Given the description of an element on the screen output the (x, y) to click on. 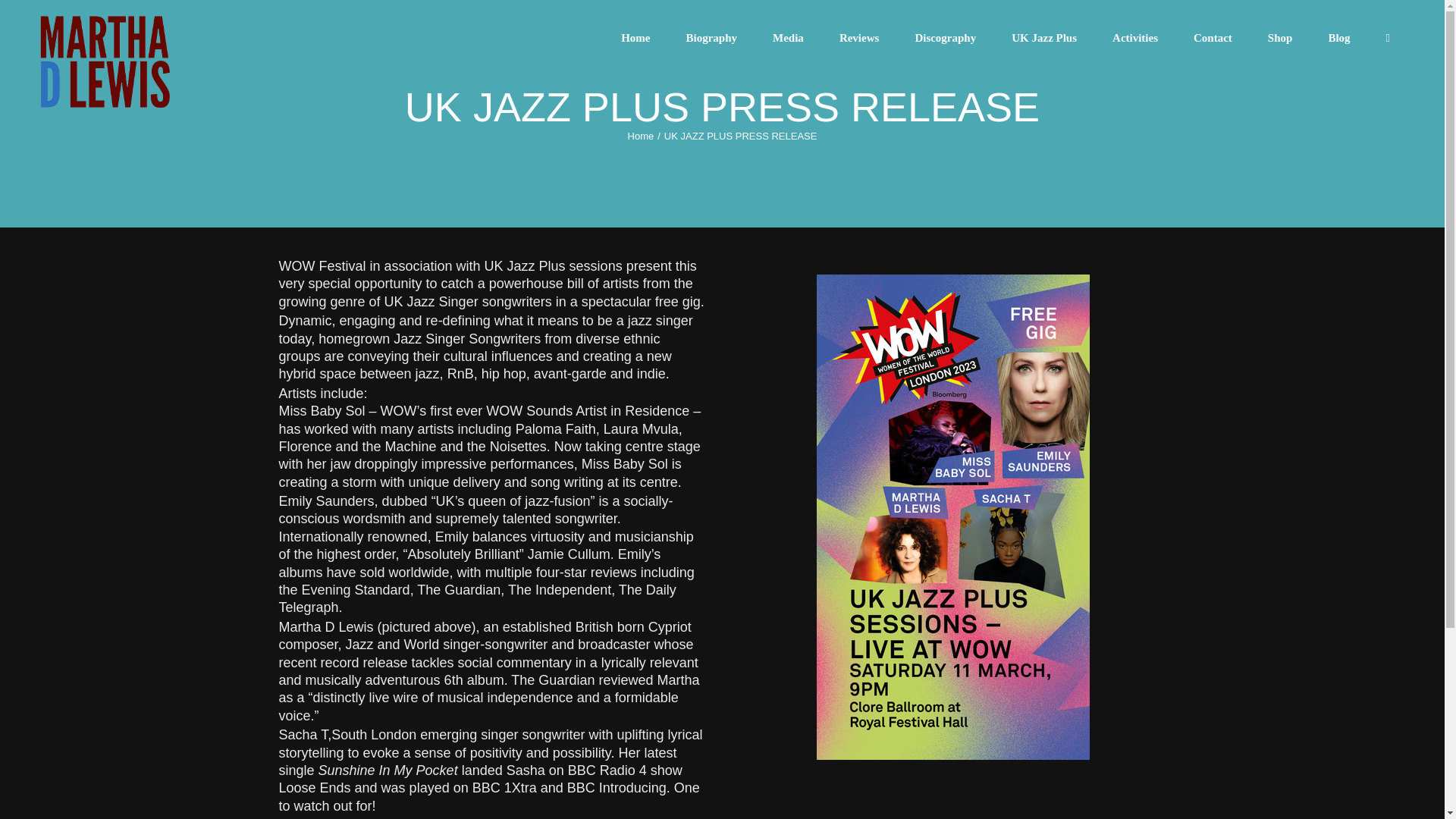
UK Jazz Plus (1044, 38)
Discography (945, 38)
Reviews (858, 38)
Contact (1213, 38)
Home (640, 135)
Biography (711, 38)
Activities (1135, 38)
